Given the description of an element on the screen output the (x, y) to click on. 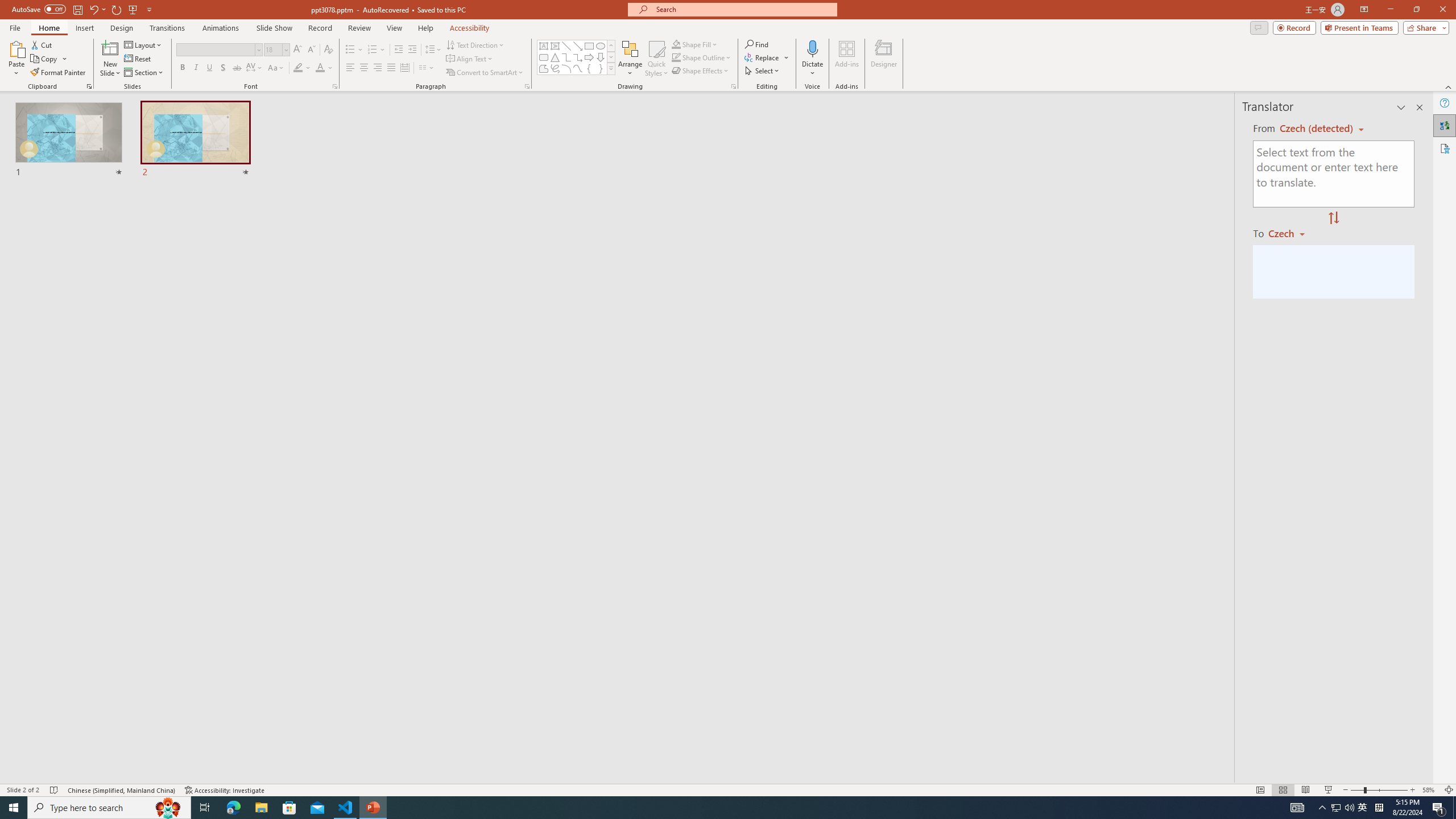
Row up (611, 45)
Replace... (762, 56)
Text Highlight Color Yellow (297, 67)
Font Size (273, 49)
Select (762, 69)
Copy (45, 58)
Right Brace (600, 68)
Collapse the Ribbon (1448, 86)
Shadow (223, 67)
Slide (195, 140)
Arrow: Right (589, 57)
Paste (16, 58)
